Given the description of an element on the screen output the (x, y) to click on. 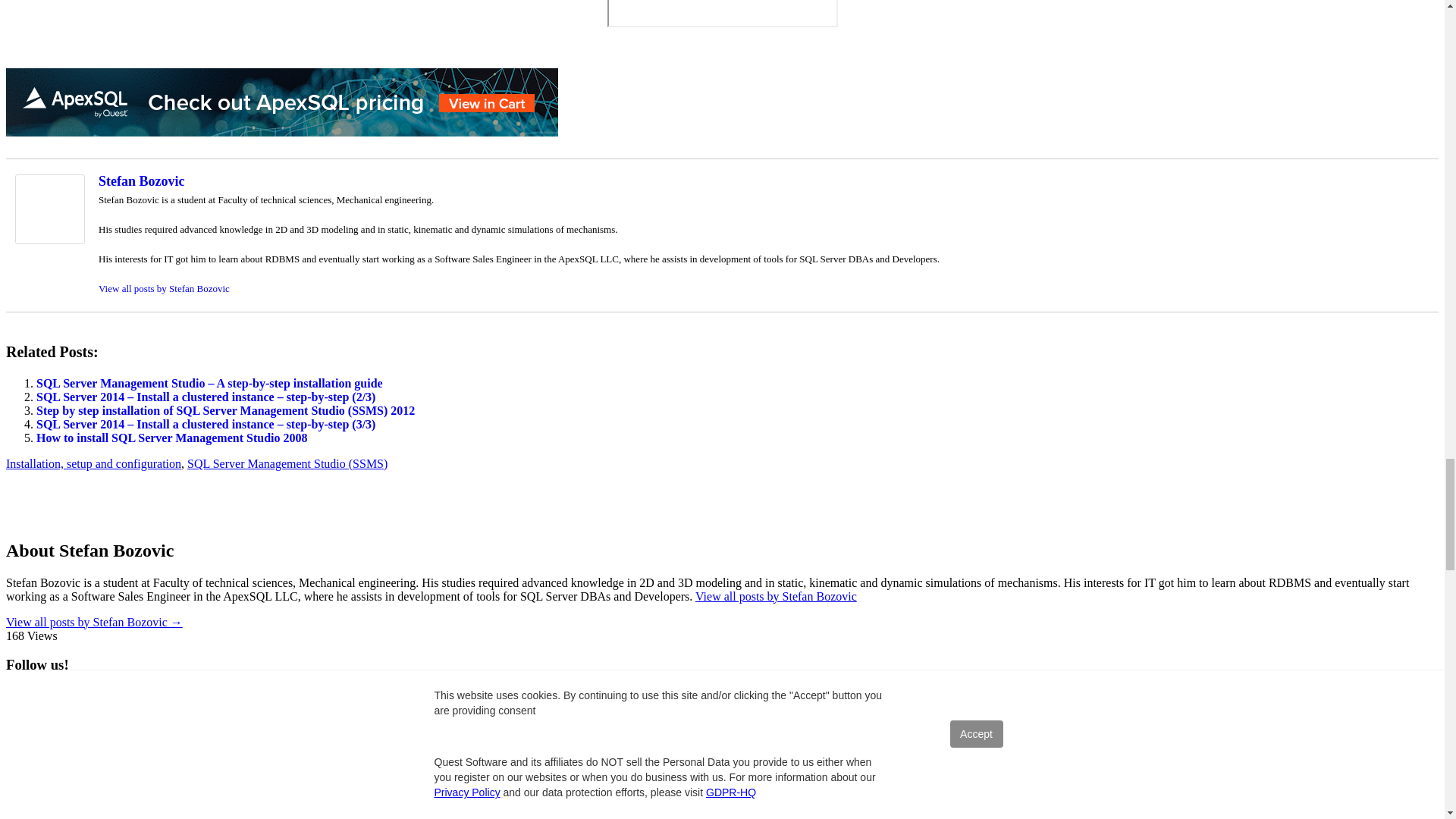
View all posts by Stefan Bozovic (164, 288)
Stefan Bozovic (49, 239)
Installation, setup and configuration (92, 463)
How to install SQL Server Management Studio 2008 (171, 437)
Stefan Bozovic (141, 181)
How to install SQL Server Management Studio 2008 (171, 437)
